Given the description of an element on the screen output the (x, y) to click on. 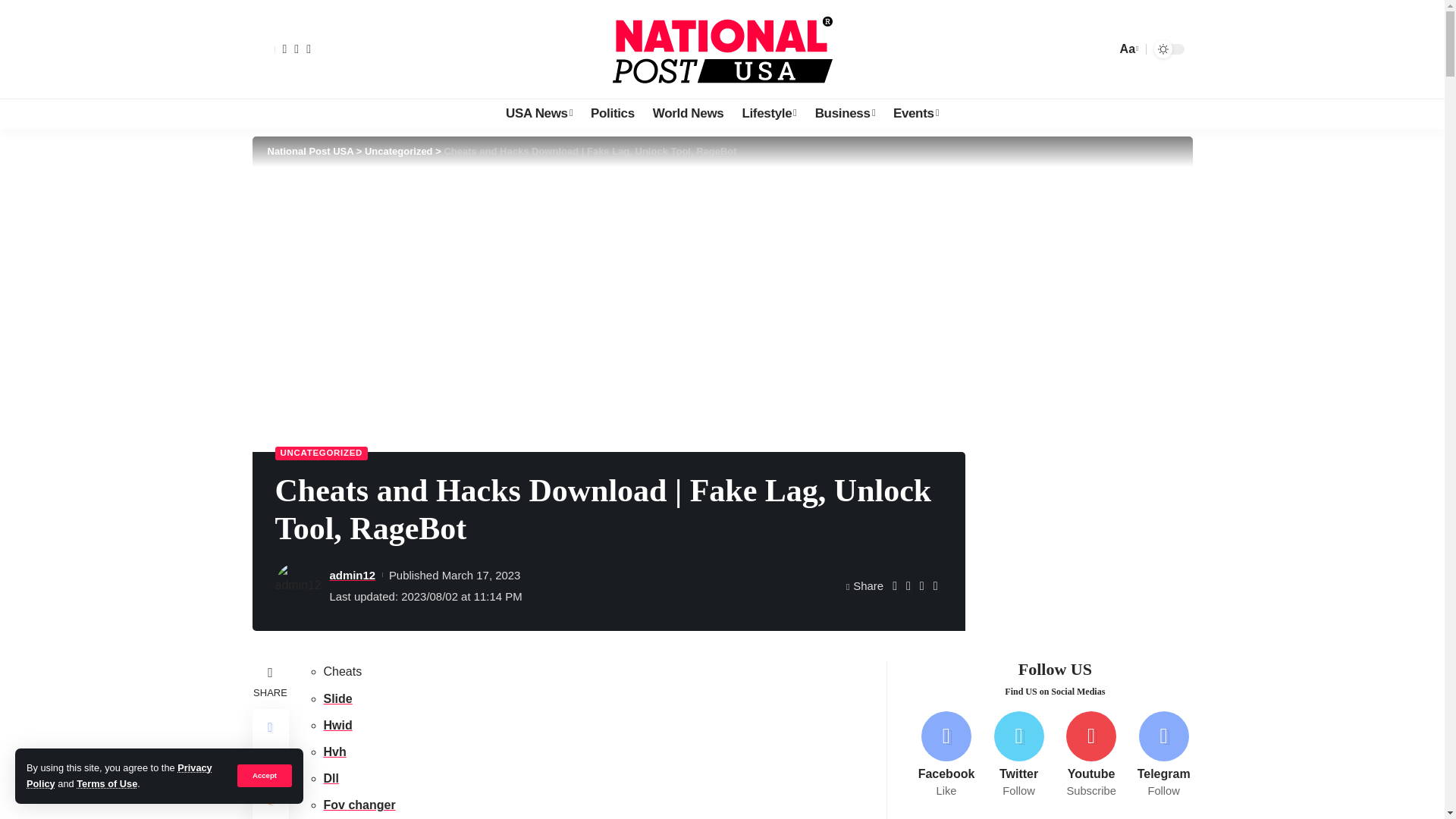
Accept (264, 775)
Lifestyle (768, 113)
Aa (1127, 48)
National Post USA (721, 48)
Politics (611, 113)
Terms of Use (106, 783)
Go to the Uncategorized Category archives. (398, 151)
World News (688, 113)
Go to National Post USA. (309, 151)
Business (844, 113)
Privacy Policy (119, 775)
USA News (538, 113)
